Given the description of an element on the screen output the (x, y) to click on. 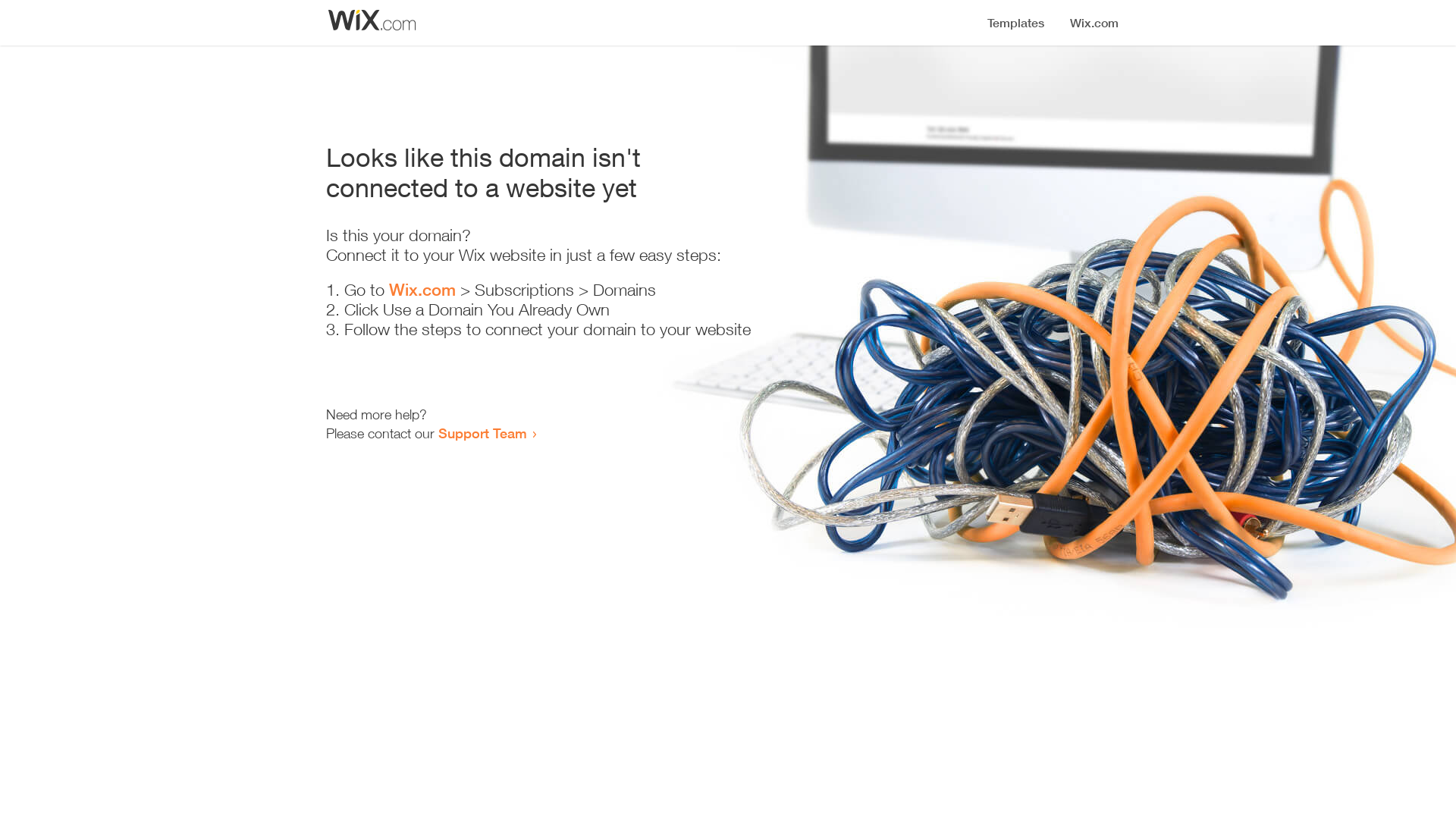
Wix.com Element type: text (422, 289)
Support Team Element type: text (482, 432)
